Given the description of an element on the screen output the (x, y) to click on. 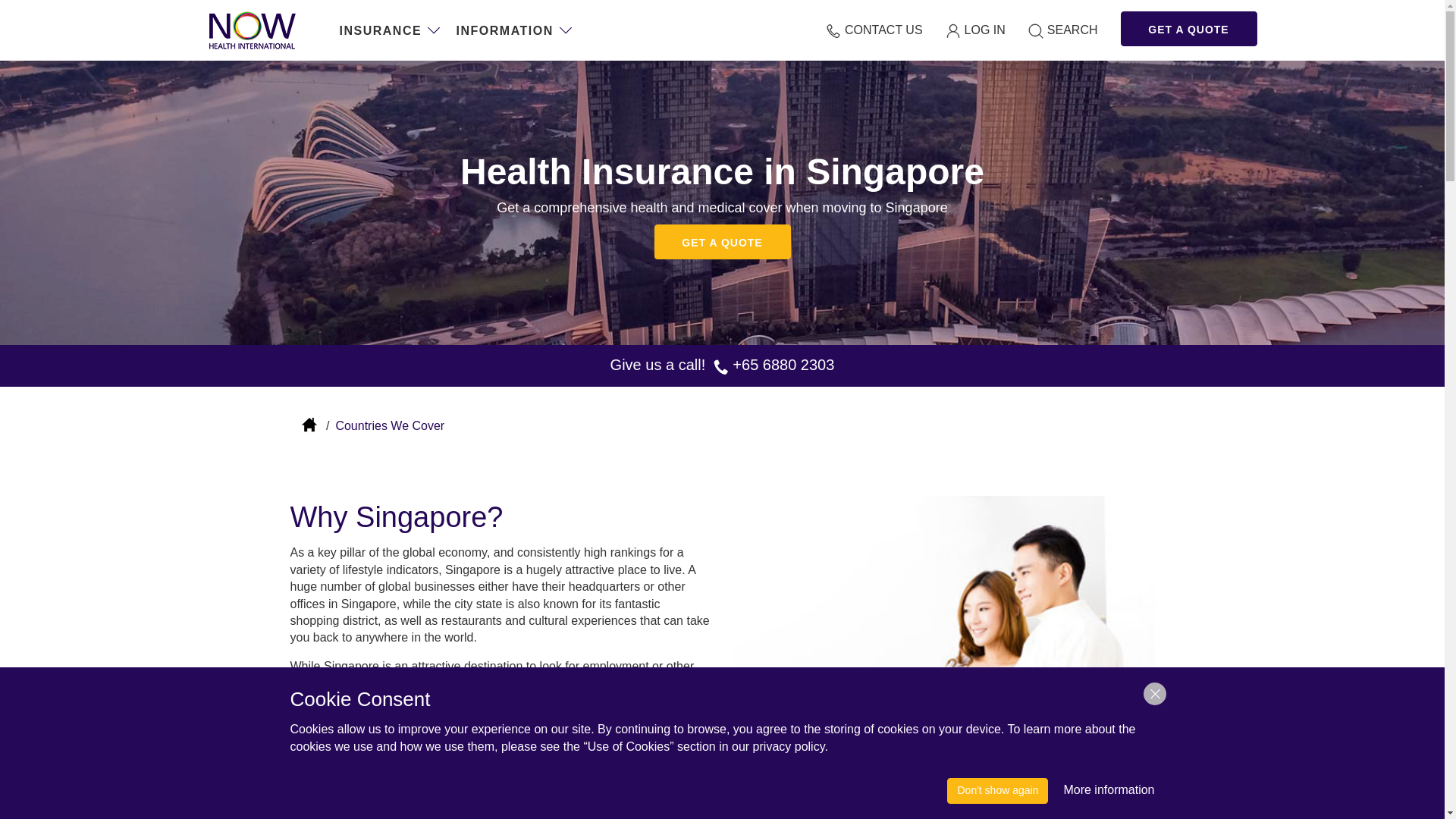
INSURANCE (390, 31)
International Health Insurance - Now Health (252, 30)
INFORMATION (515, 31)
